Given the description of an element on the screen output the (x, y) to click on. 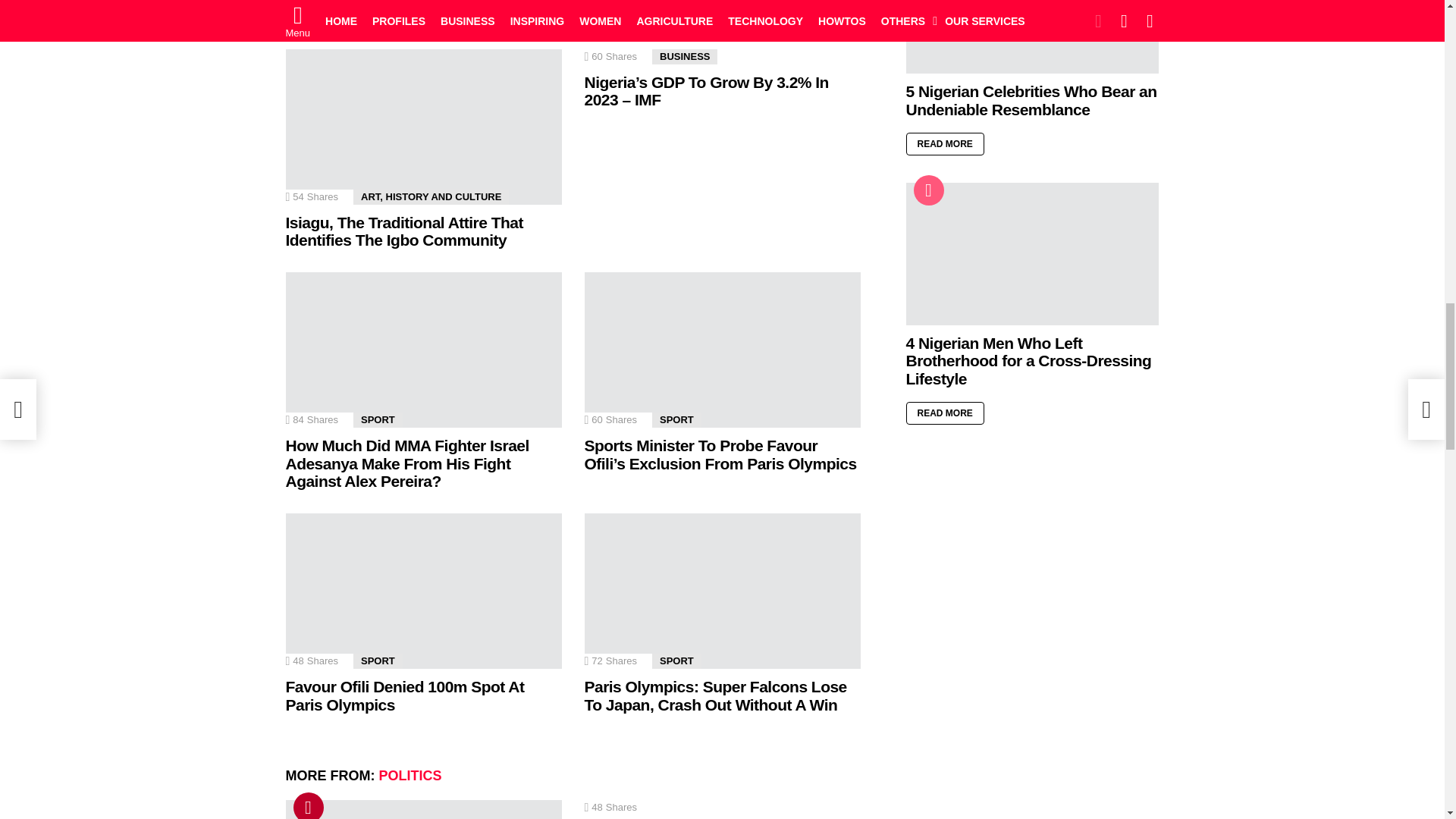
Ondo Governor Appoints Seyi Law, Others As Aides (422, 809)
Favour Ofili Denied 100m Spot At Paris Olympics (422, 591)
Trending (307, 805)
